Given the description of an element on the screen output the (x, y) to click on. 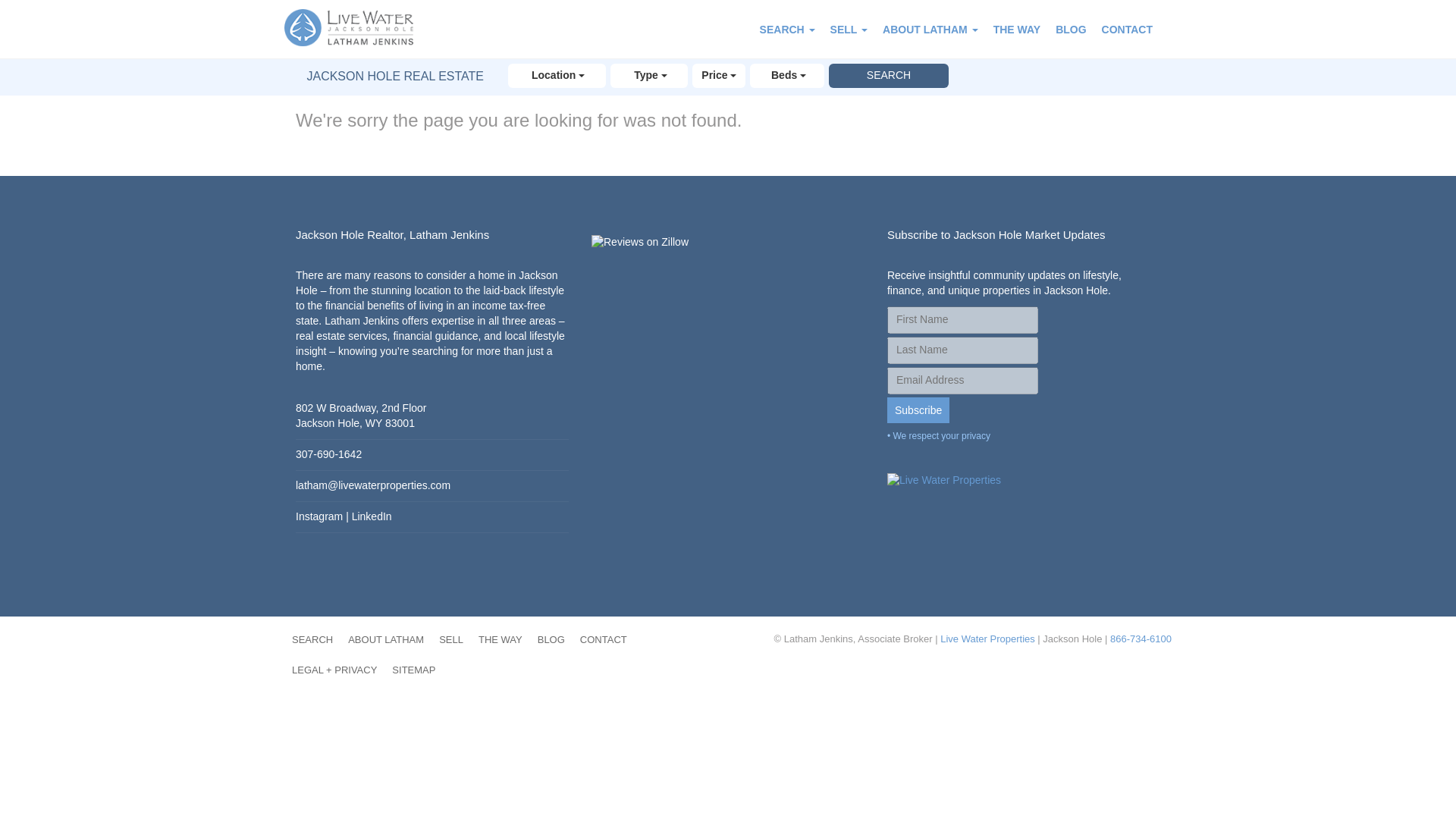
List Your Jackson Hole Property (848, 29)
    Beds     (786, 75)
THE WAY (1016, 29)
SELL (848, 29)
     Type      (649, 75)
Instagram (318, 516)
BLOG (1070, 29)
CONTACT (1127, 29)
SEARCH (311, 639)
Price (719, 75)
